Given the description of an element on the screen output the (x, y) to click on. 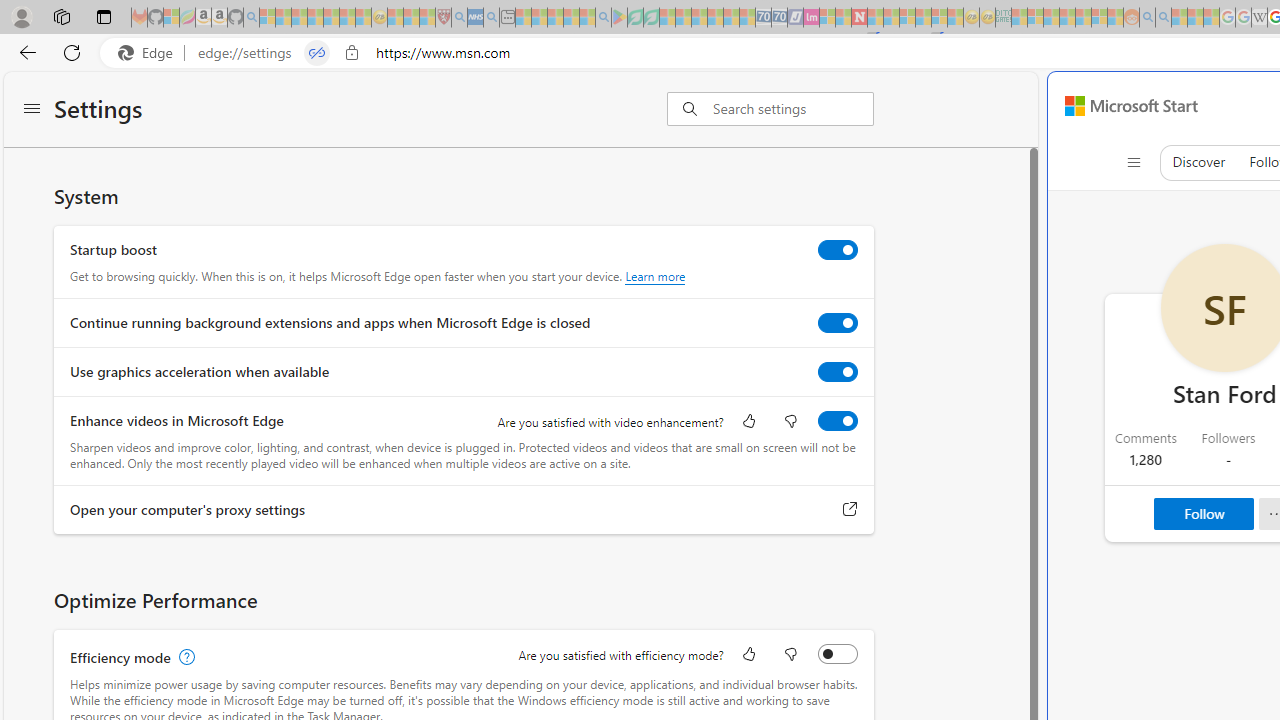
Learn more (655, 276)
